Given the description of an element on the screen output the (x, y) to click on. 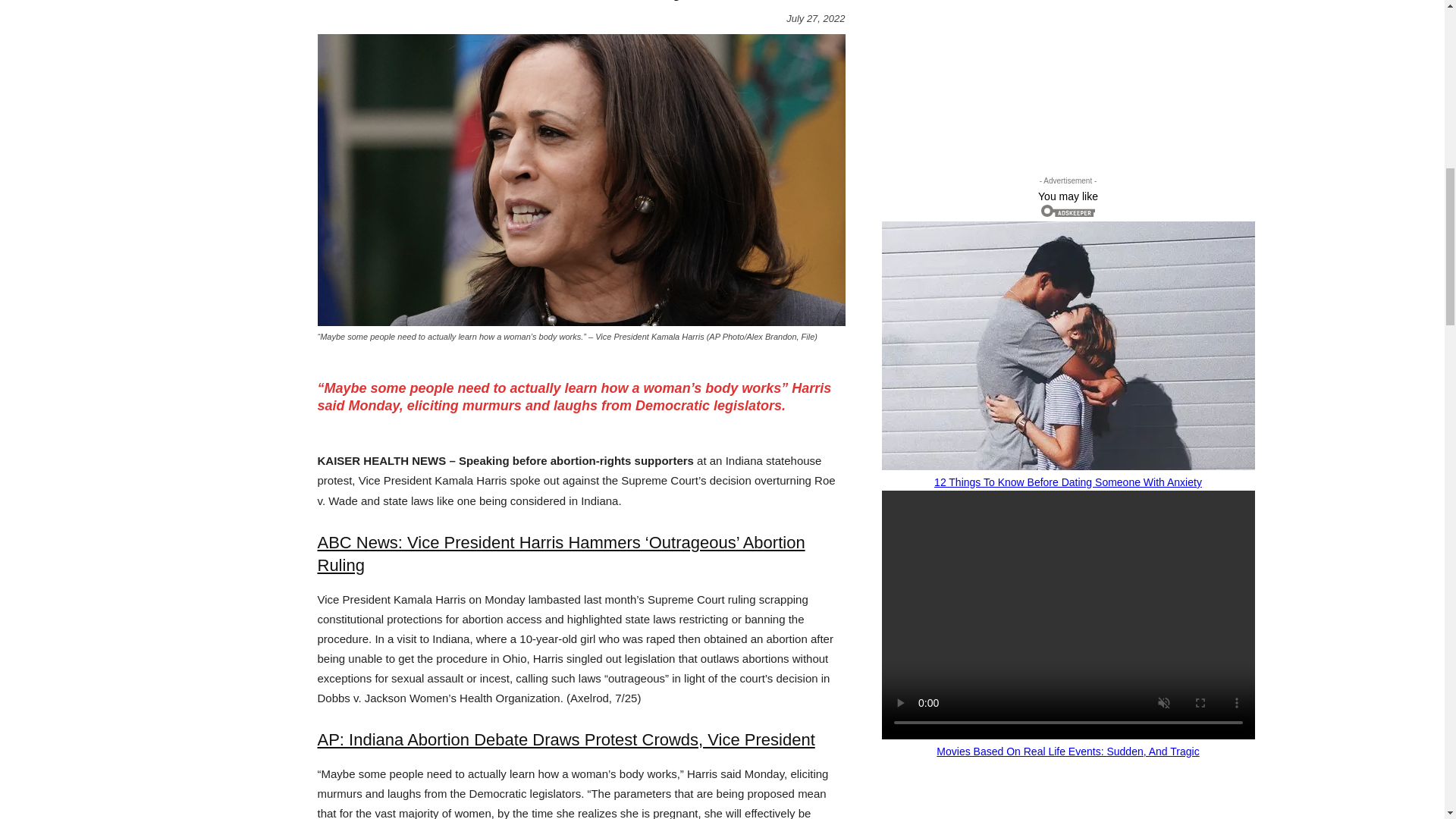
Advertisement (1003, 69)
